Given the description of an element on the screen output the (x, y) to click on. 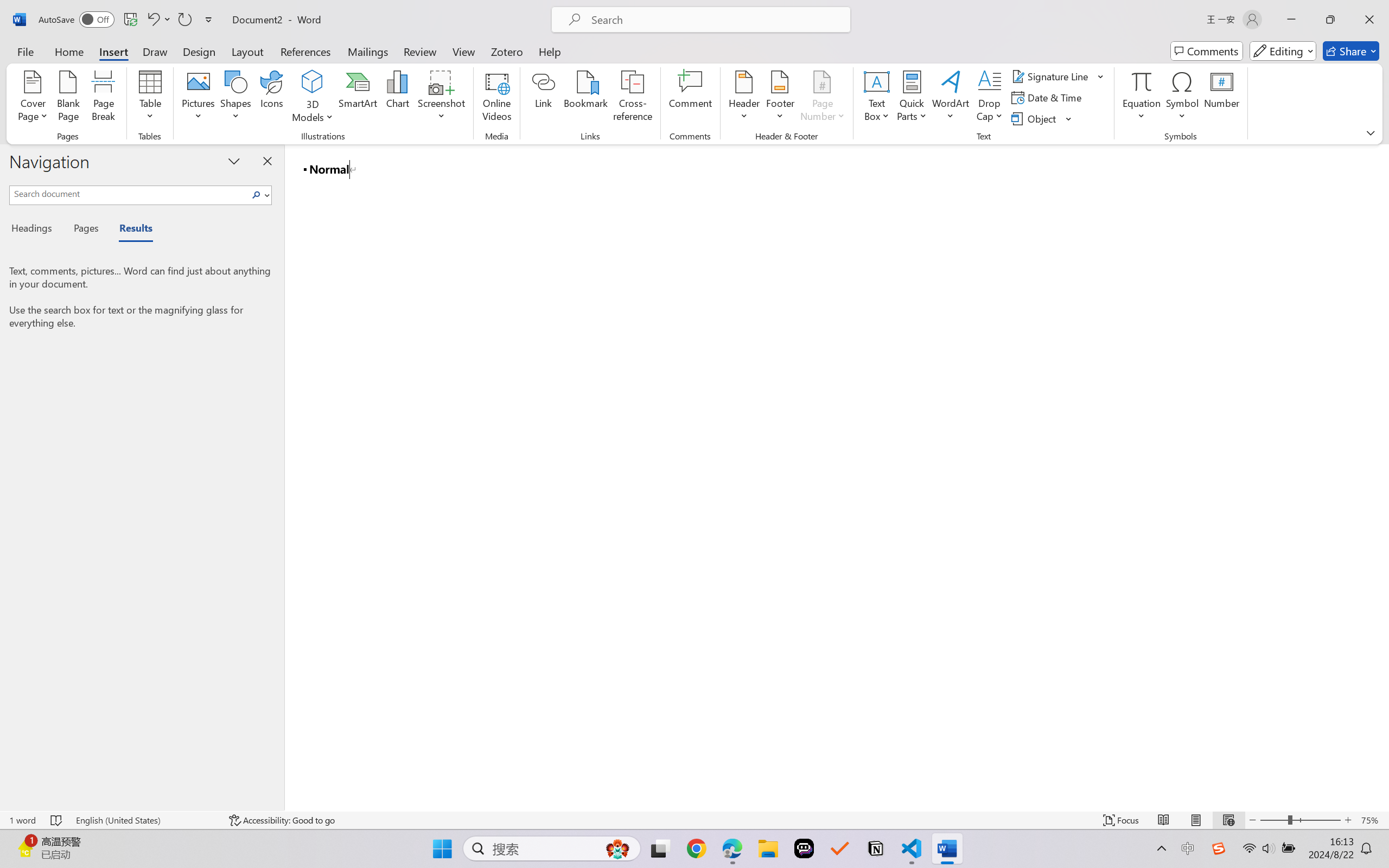
Date & Time... (1048, 97)
Search document (128, 193)
Cross-reference... (632, 97)
Object... (1035, 118)
Equation (1141, 81)
Class: NetUIScrollBar (1382, 477)
Draw (155, 51)
Equation (1141, 97)
3D Models (312, 97)
Accessibility Checker Accessibility: Good to go (282, 819)
Language English (United States) (144, 819)
